Given the description of an element on the screen output the (x, y) to click on. 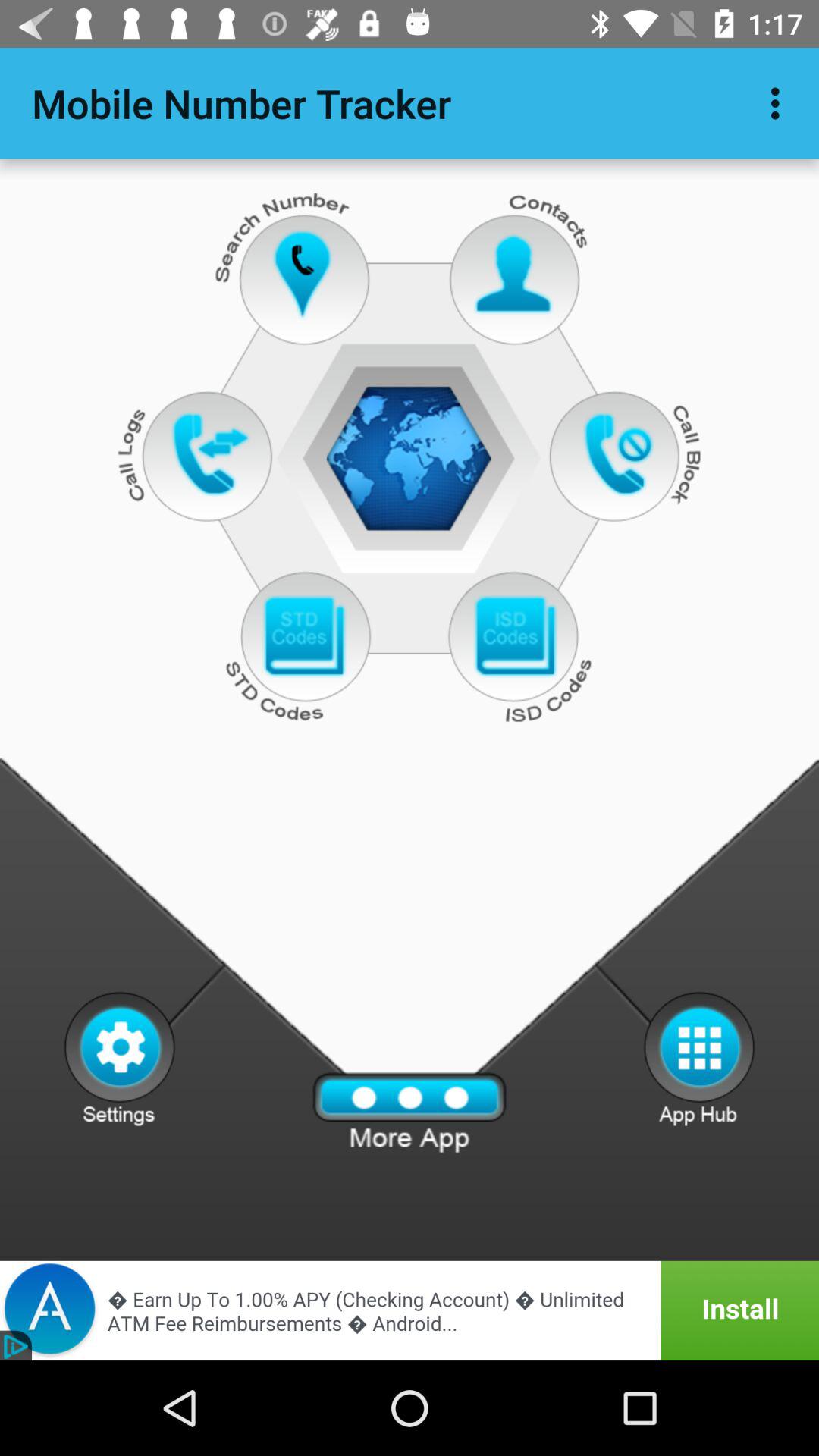
open more app button (409, 1112)
